Given the description of an element on the screen output the (x, y) to click on. 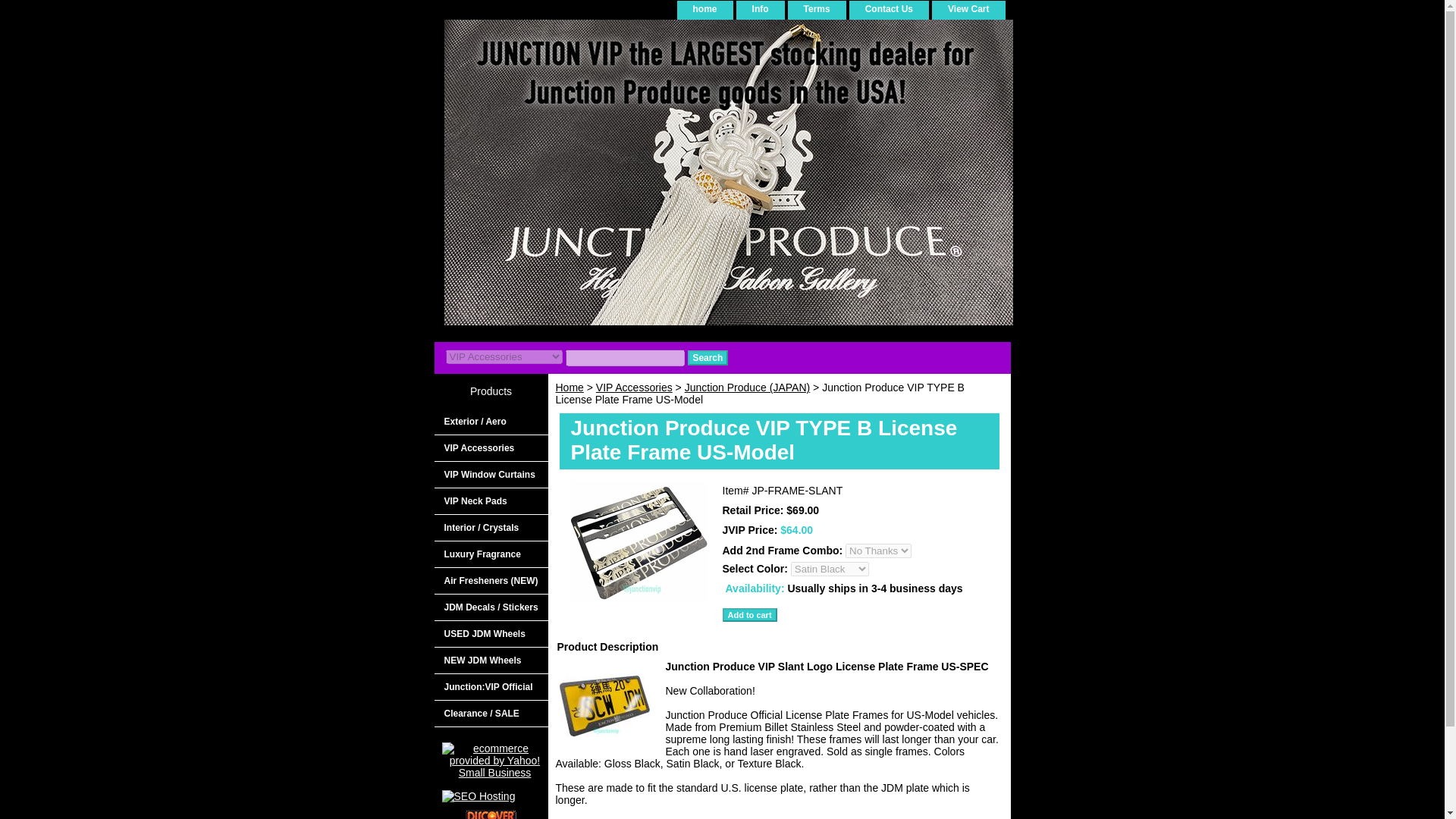
VIP Accessories (490, 447)
View Cart (968, 9)
Contact Us (889, 9)
Info (760, 9)
VIP Accessories (633, 387)
NEW JDM Wheels (490, 660)
SEO Hosting (478, 796)
VIP Window Curtains (490, 474)
VIP Neck Pads (490, 501)
VIP Neck Pads (490, 501)
NEW JDM Wheels (490, 660)
VIP Accessories (490, 447)
Junction:VIP Official (490, 687)
Terms (817, 9)
